Given the description of an element on the screen output the (x, y) to click on. 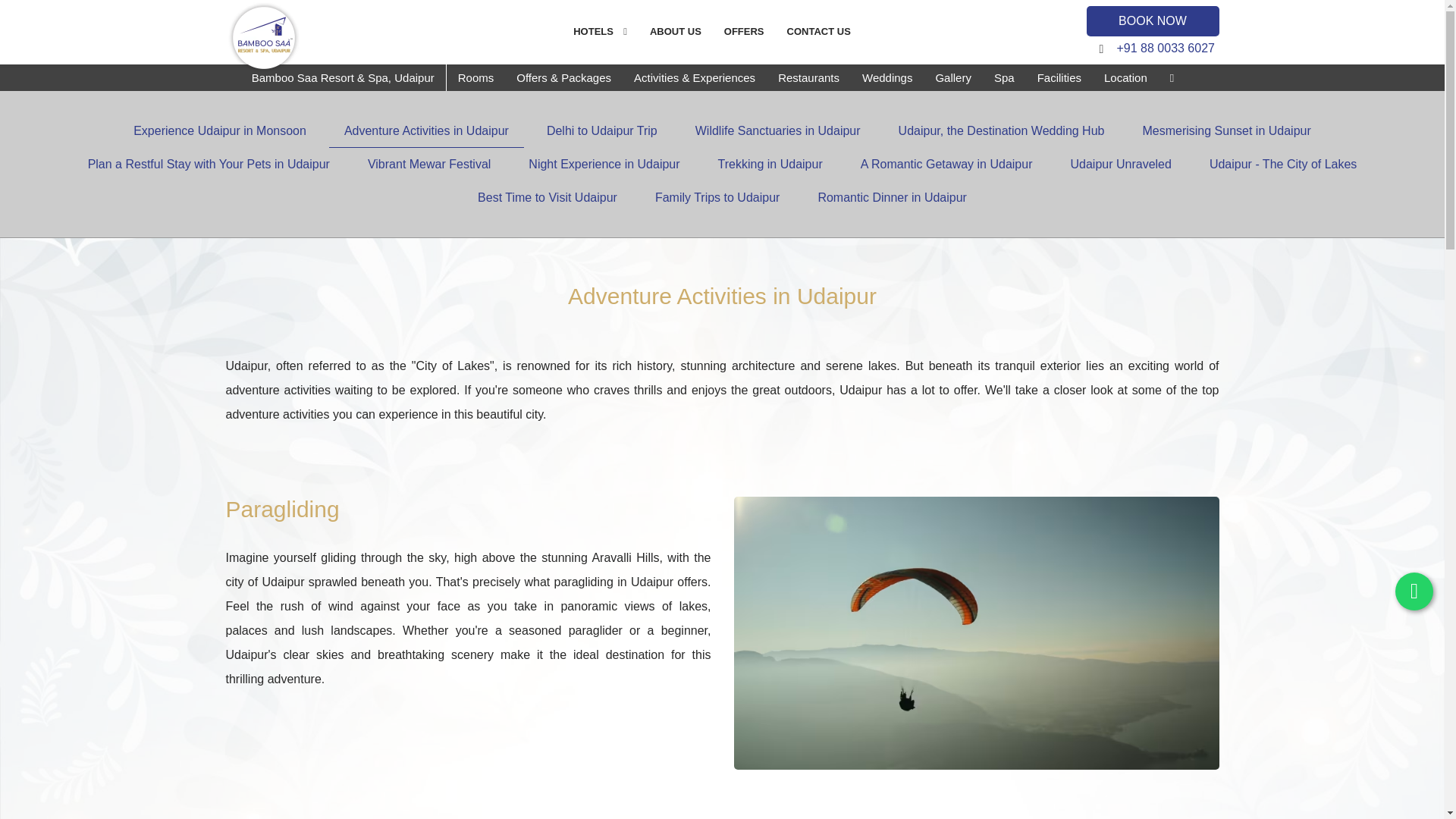
Adventure Activities in Udaipur (426, 131)
Facilities (1059, 77)
Udaipur, the Destination Wedding Hub (1001, 131)
Location (1125, 77)
Gallery (952, 77)
ABOUT US (676, 32)
HOTELS (606, 32)
Night Experience in Udaipur (603, 164)
CONTACT US (818, 32)
Mesmerising Sunset in Udaipur (1225, 131)
